Given the description of an element on the screen output the (x, y) to click on. 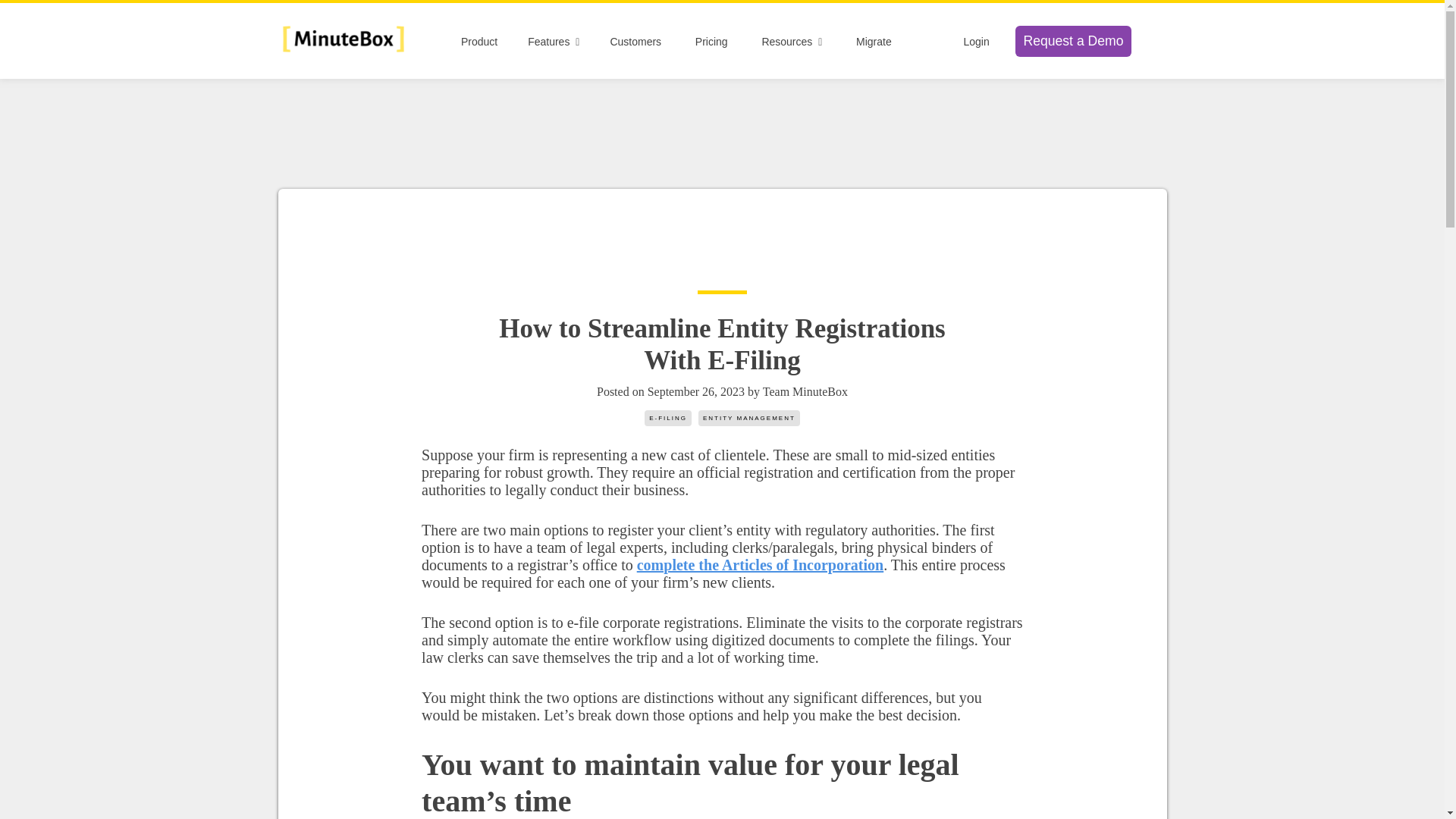
Product (479, 40)
Request a Demo (1072, 40)
Migrate (873, 40)
Resources (791, 40)
Customers (635, 40)
Login (975, 40)
Pricing (711, 40)
Features (553, 40)
